Given the description of an element on the screen output the (x, y) to click on. 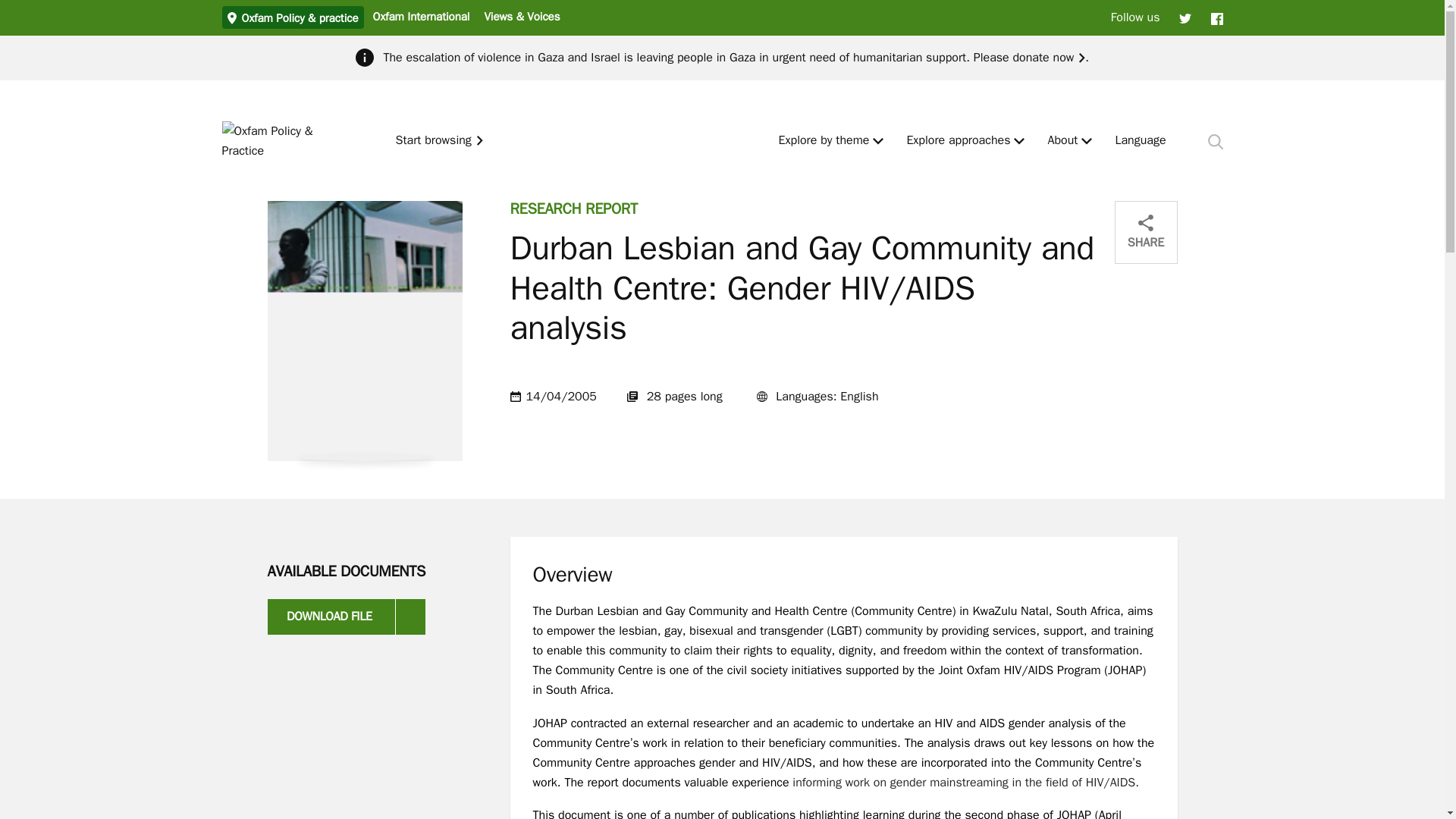
English (1140, 140)
Start browsing (439, 140)
Skip to content (11, 5)
Twitter (1184, 17)
Menu toggle (877, 141)
donate now (1047, 57)
Search (1215, 140)
Facebook (1216, 17)
Oxfam International (420, 16)
Explore approaches (957, 140)
